Given the description of an element on the screen output the (x, y) to click on. 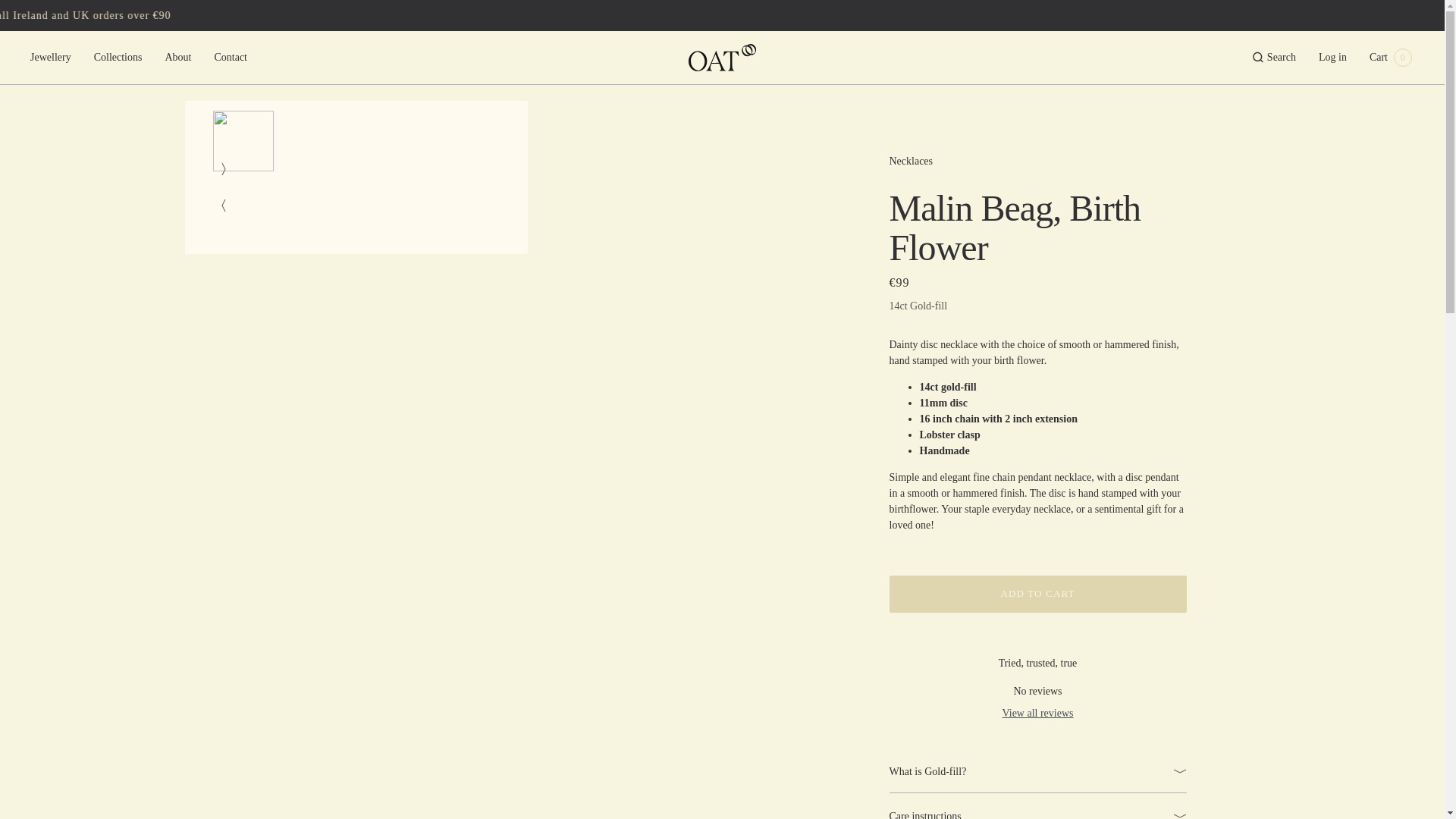
View all reviews (1037, 713)
Jewellery (50, 57)
SKIP TO CONTENT (14, 10)
